Given the description of an element on the screen output the (x, y) to click on. 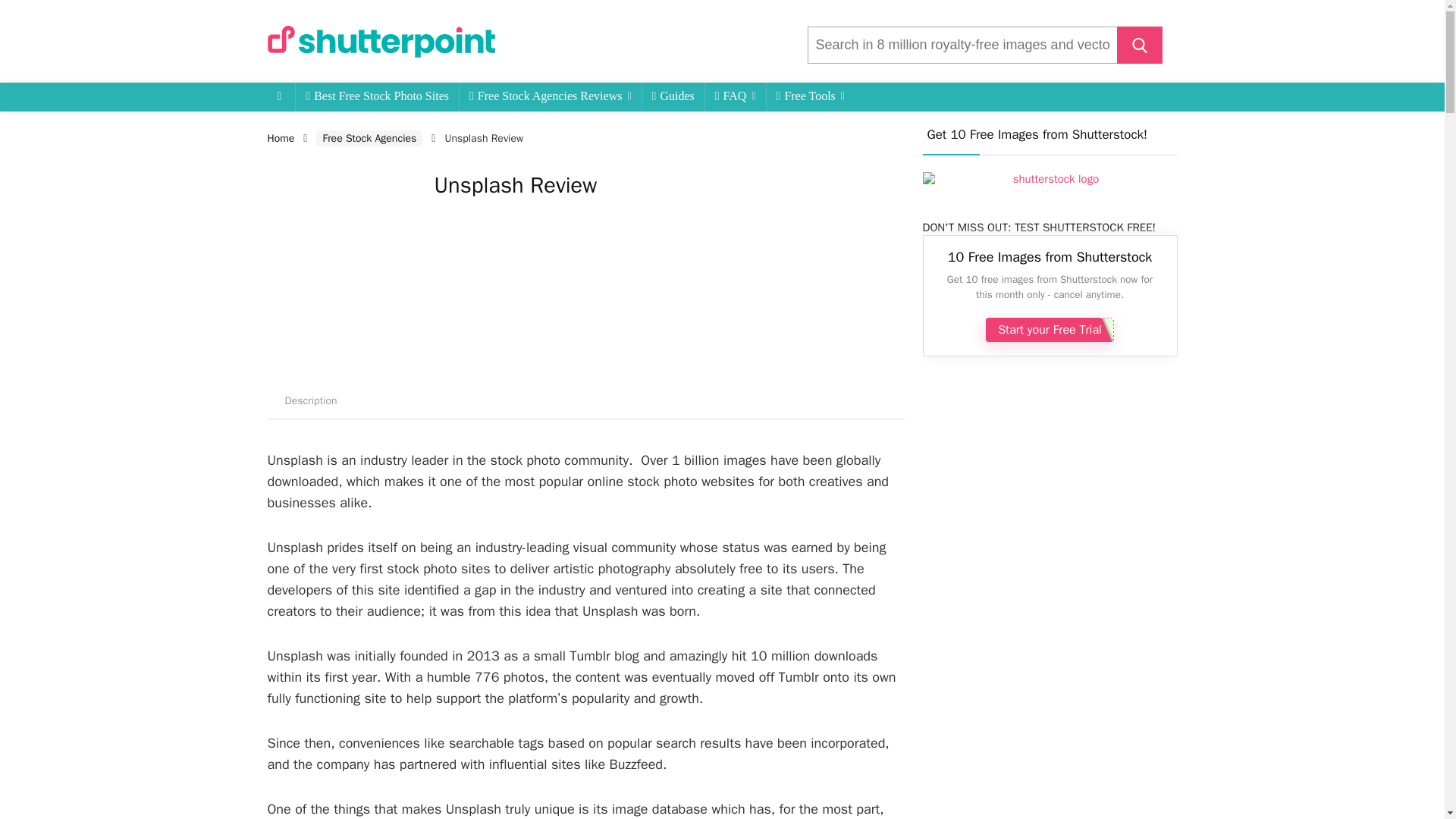
Best Free Stock Photo Sites (376, 96)
FAQ (734, 96)
Free Tools (810, 96)
Free Stock Agencies Reviews (551, 96)
Home (280, 137)
Free Stock Agencies (368, 138)
Description (309, 401)
Guides (673, 96)
